Given the description of an element on the screen output the (x, y) to click on. 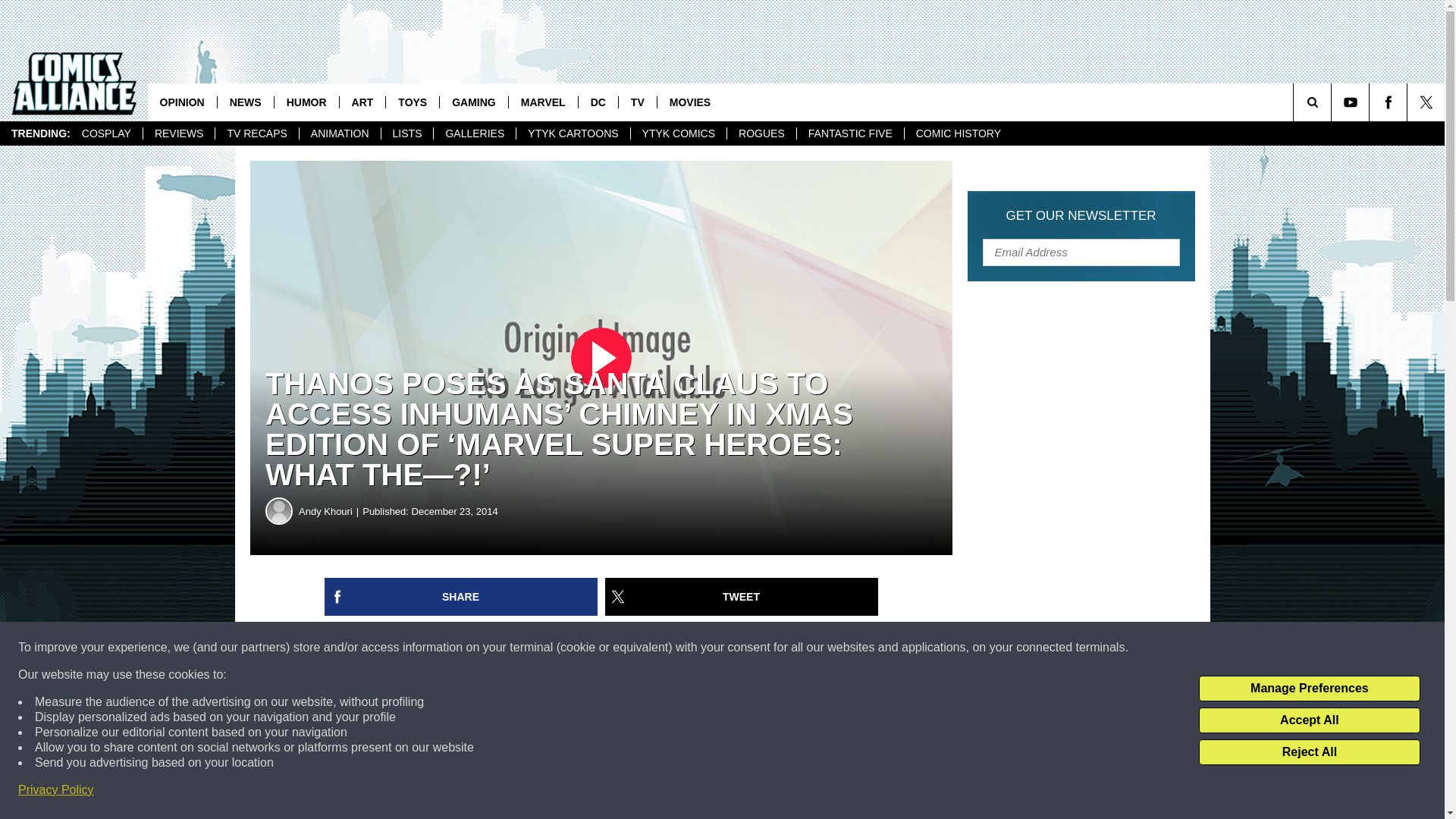
ANIMATION (339, 133)
GALLERIES (473, 133)
Visit us on Youtube (1350, 102)
SHARE (460, 596)
SHARE (460, 596)
Visit us on Facebook (1388, 102)
perpetually failing (378, 808)
COSPLAY (105, 133)
MARVEL (543, 102)
Accept All (1309, 720)
Andy Khouri (278, 510)
YTYK CARTOONS (571, 133)
TOYS (412, 102)
REVIEWS (178, 133)
MOVIES (689, 102)
